Given the description of an element on the screen output the (x, y) to click on. 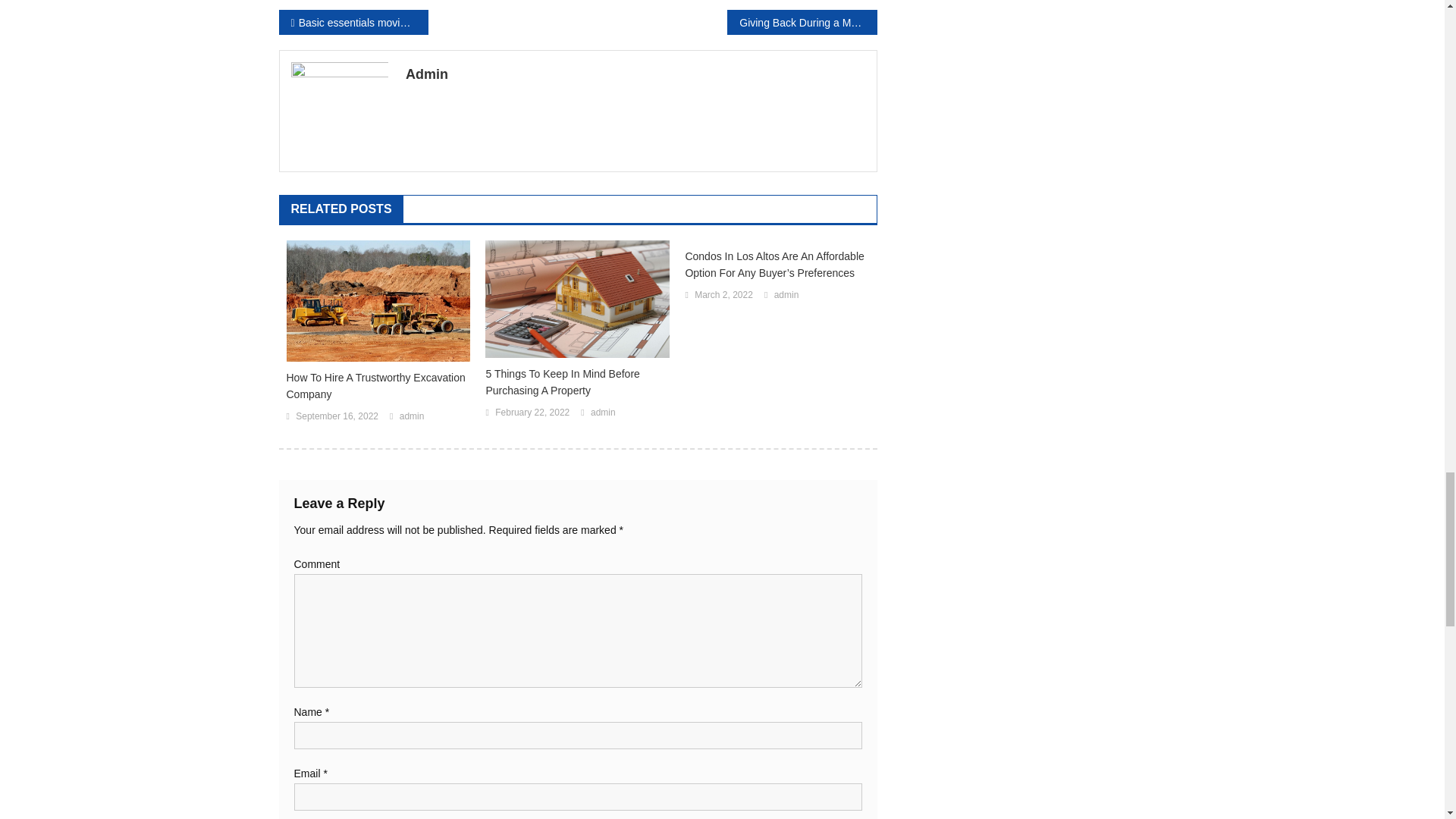
Giving Back During a Move: How to Donate Your Unwanted Items (801, 22)
Admin (635, 74)
How To Hire A Trustworthy Excavation Company (378, 385)
Basic essentials moving into a house, (353, 22)
